Given the description of an element on the screen output the (x, y) to click on. 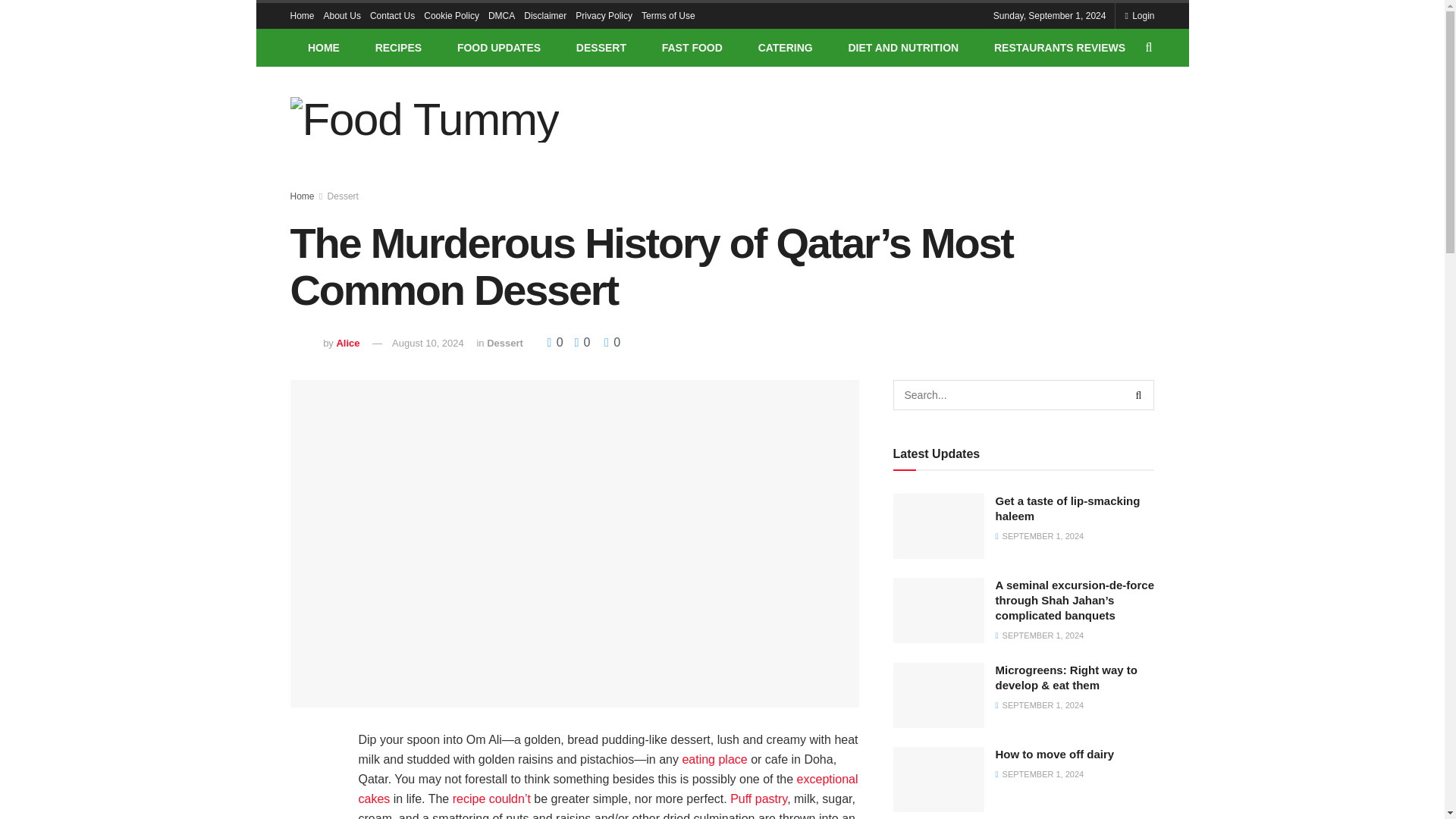
DIET AND NUTRITION (902, 47)
Privacy Policy (603, 15)
Login (1139, 15)
DESSERT (600, 47)
About Us (342, 15)
Disclaimer (545, 15)
Home (301, 15)
FAST FOOD (691, 47)
FOOD UPDATES (499, 47)
HOME (322, 47)
